Given the description of an element on the screen output the (x, y) to click on. 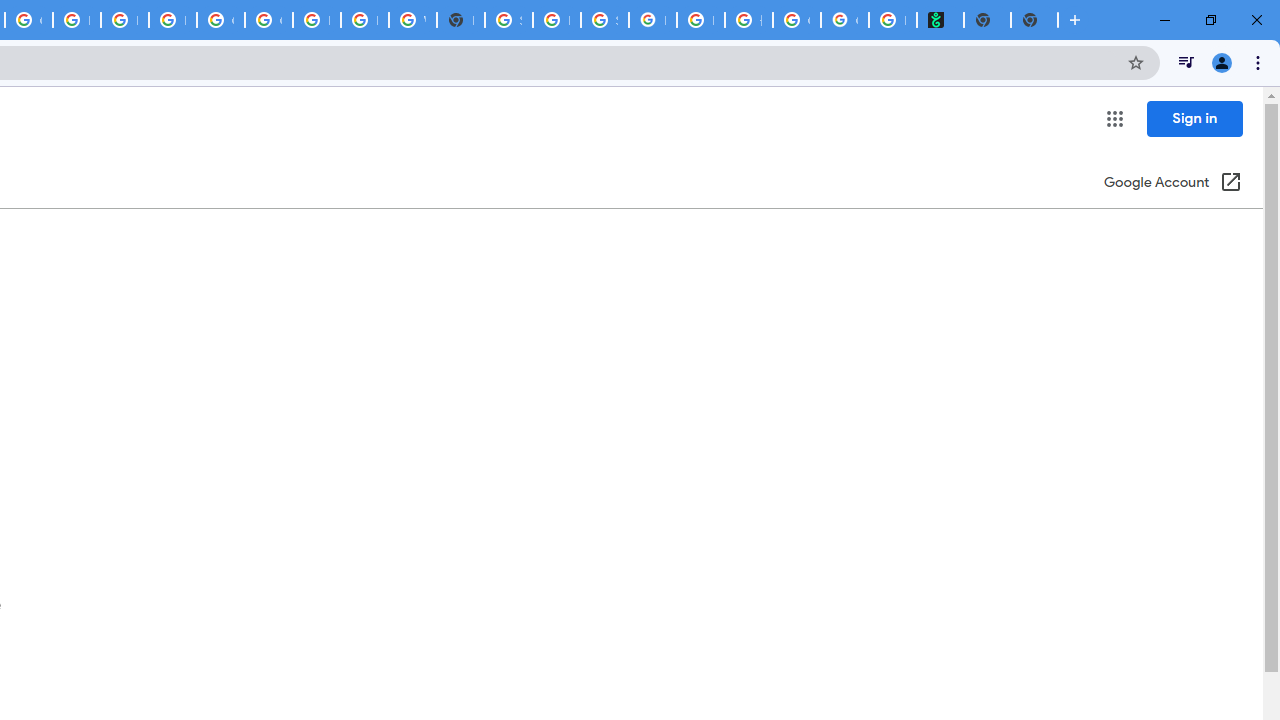
Browse Chrome as a guest - Computer - Google Chrome Help (364, 20)
